Given the description of an element on the screen output the (x, y) to click on. 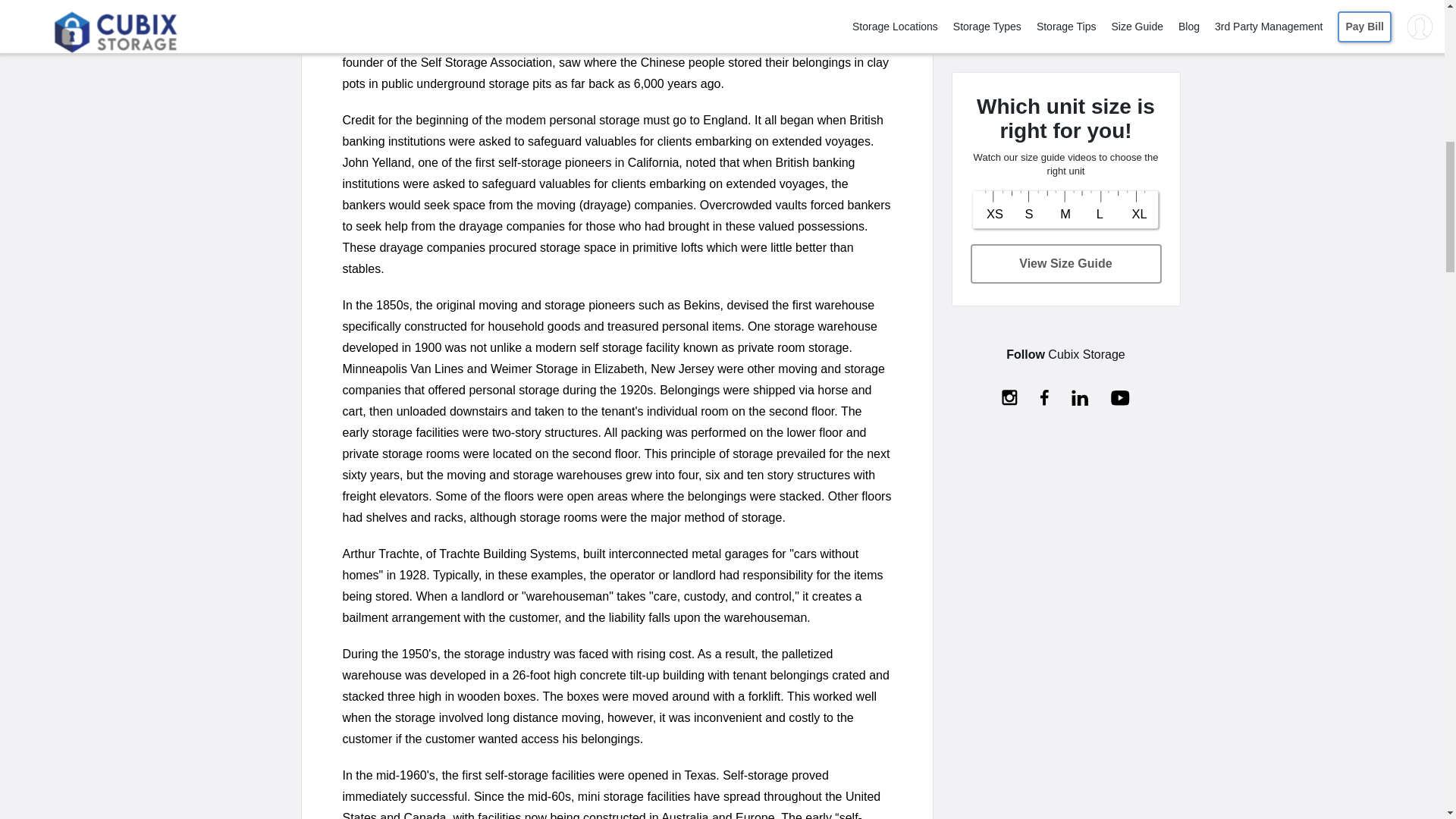
instagram (1009, 397)
linkedin (1079, 397)
youtube (1119, 396)
youtube (1119, 397)
